Given the description of an element on the screen output the (x, y) to click on. 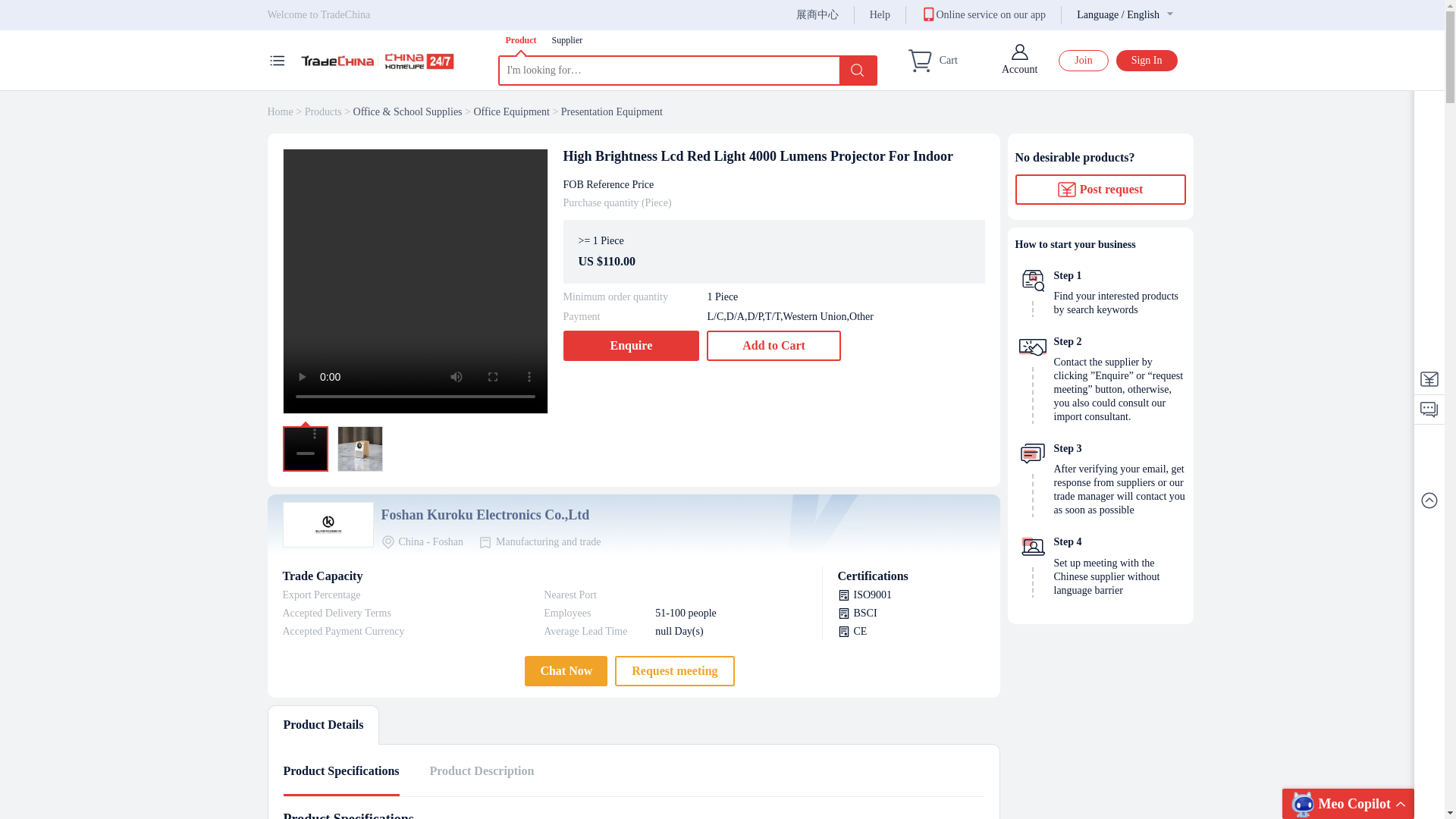
Nearest Port (595, 595)
Accepted Payment Currency (350, 631)
Help (879, 14)
51-100 people (722, 613)
Product Specifications (340, 772)
Request meeting (673, 671)
Enquire (630, 345)
Chat Now (565, 671)
Office Equipment (510, 111)
Products (323, 111)
Home (279, 111)
Foshan Kuroku Electronics Co.,Ltd (484, 514)
Sign In (1146, 60)
Online service on our app (983, 14)
Export Percentage (350, 595)
